Given the description of an element on the screen output the (x, y) to click on. 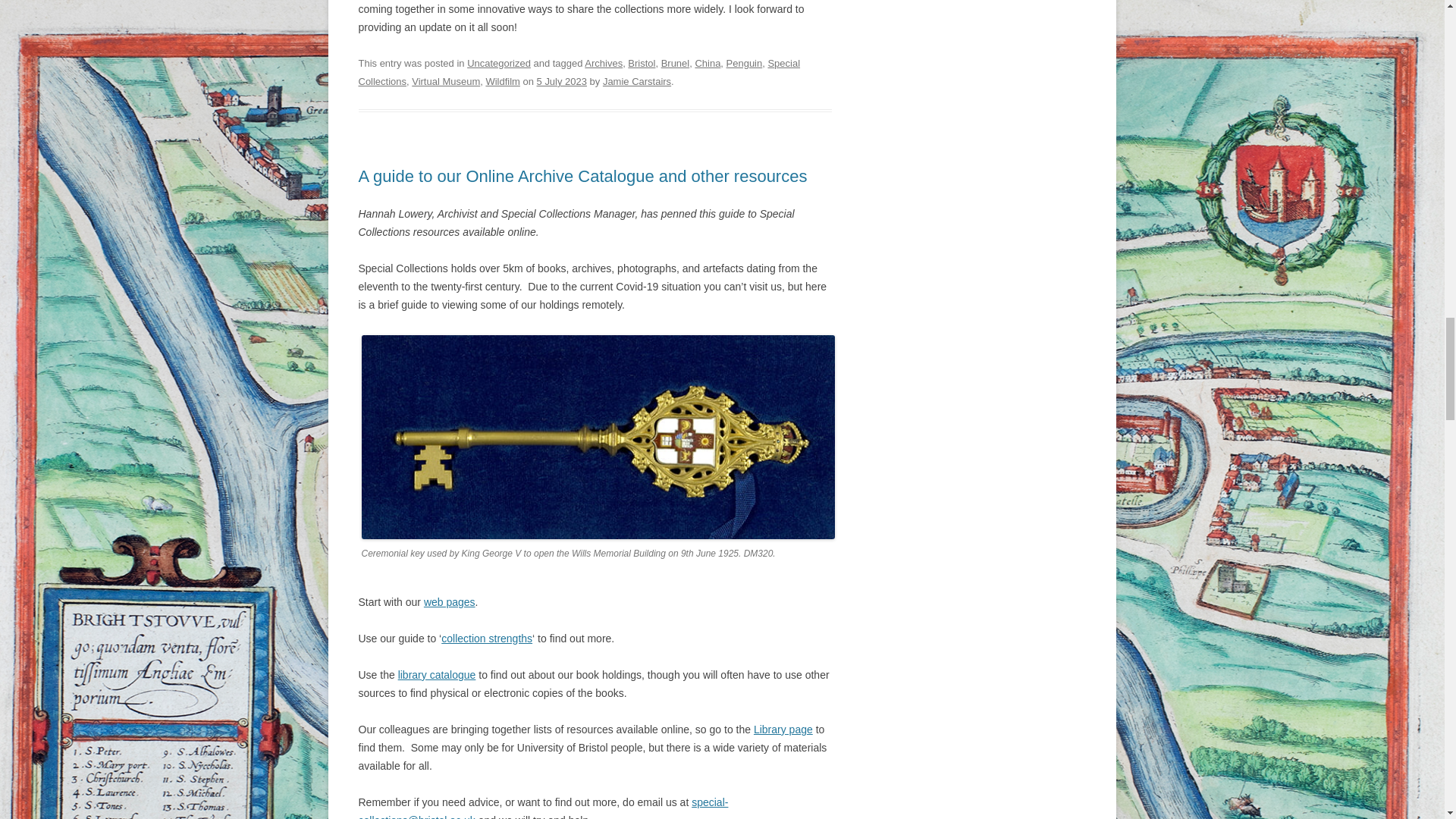
library catalogue (436, 674)
Jamie Carstairs (636, 81)
collection strengths (486, 638)
web pages (449, 602)
Penguin (744, 62)
3:03 pm (561, 81)
Brunel (675, 62)
A guide to our Online Archive Catalogue and other resources (582, 176)
Uncategorized (499, 62)
Special Collections (578, 71)
Library page (783, 729)
Archives (604, 62)
Wildfilm (501, 81)
China (707, 62)
5 July 2023 (561, 81)
